Given the description of an element on the screen output the (x, y) to click on. 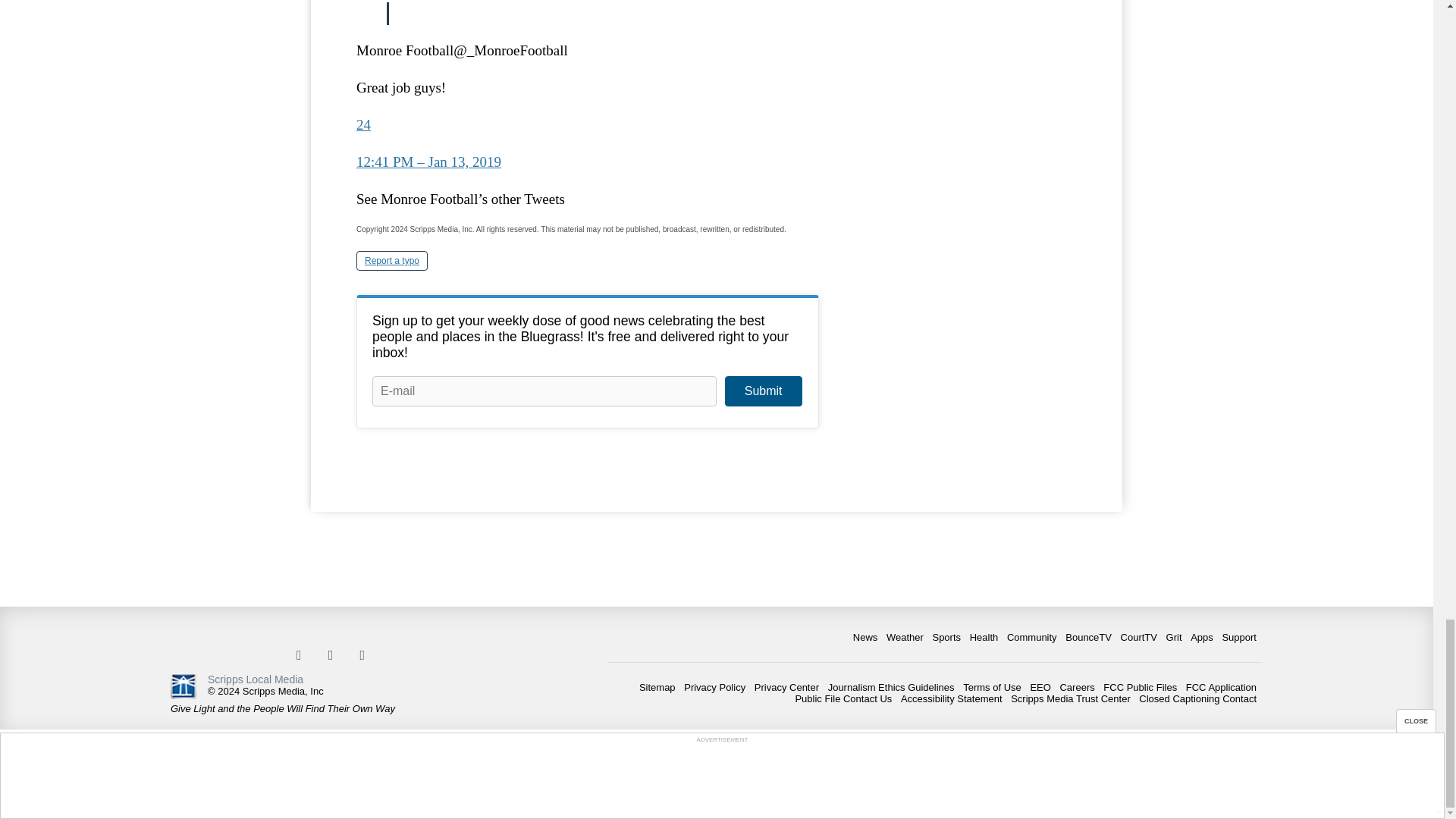
Submit (763, 390)
